Given the description of an element on the screen output the (x, y) to click on. 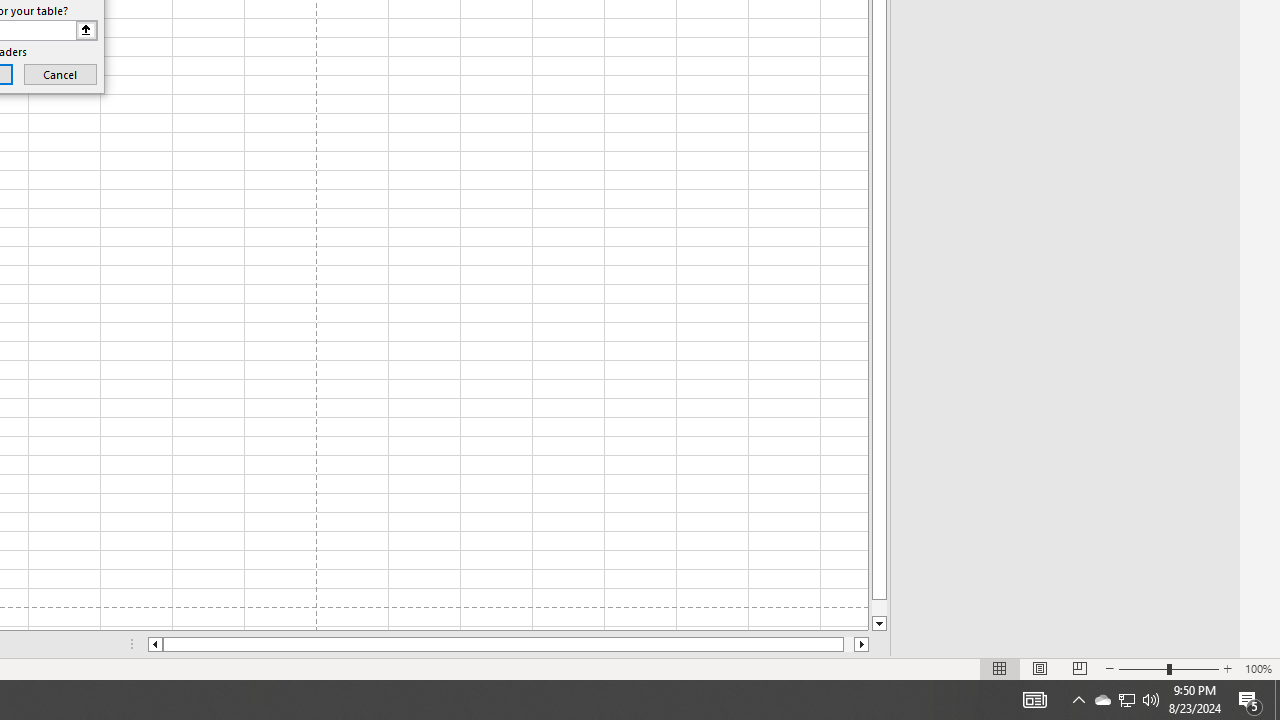
Zoom (1168, 668)
Column right (861, 644)
Page right (848, 644)
Class: NetUIScrollBar (507, 644)
Page Break Preview (1079, 668)
Line down (879, 624)
Page down (879, 607)
Normal (1000, 668)
Page Layout (1039, 668)
Column left (153, 644)
Zoom In (1227, 668)
Zoom Out (1142, 668)
